Given the description of an element on the screen output the (x, y) to click on. 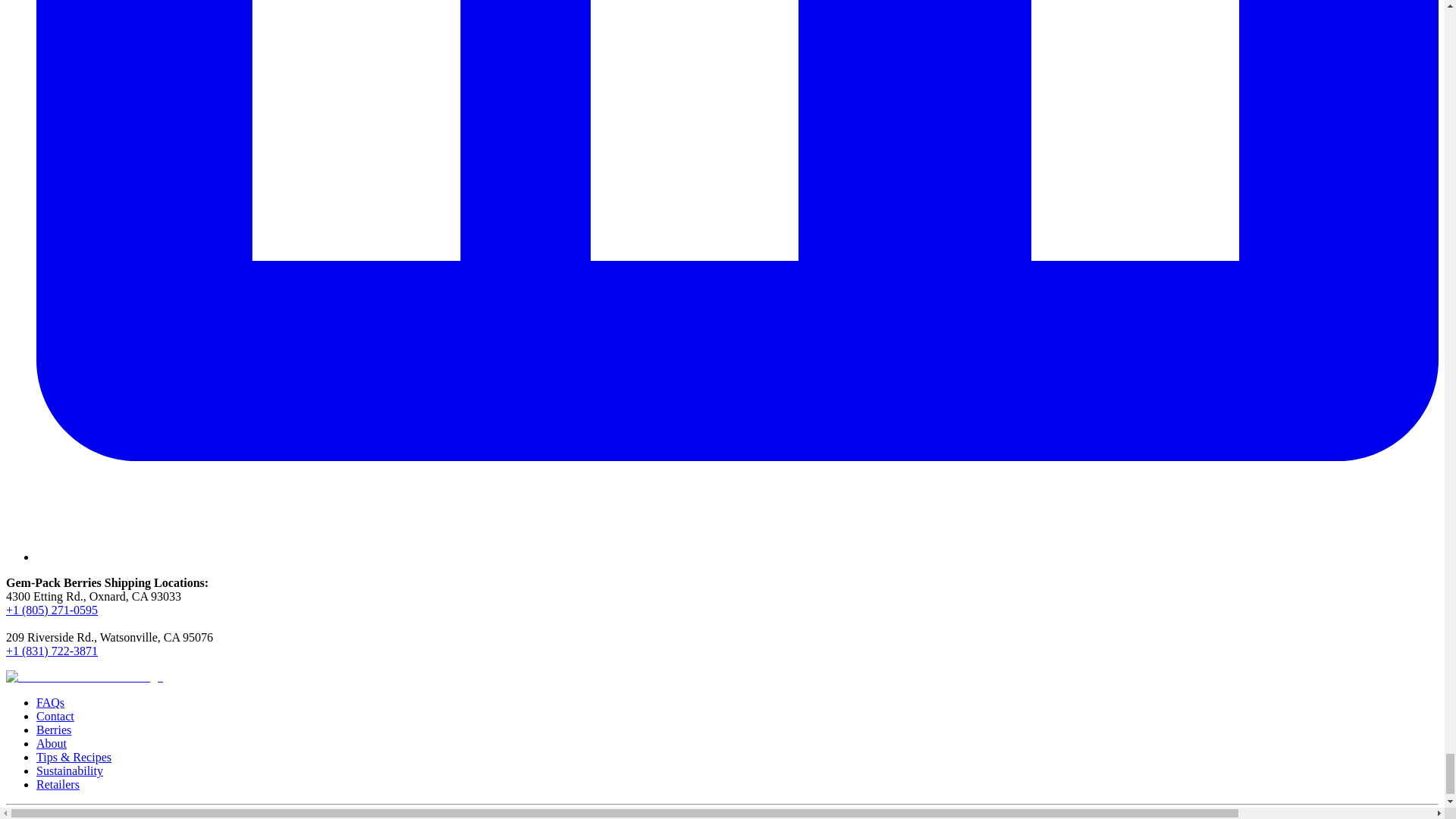
FAQs (50, 702)
Sustainability (69, 770)
About (51, 743)
Contact (55, 716)
Retailers (58, 784)
Berries (53, 729)
